Given the description of an element on the screen output the (x, y) to click on. 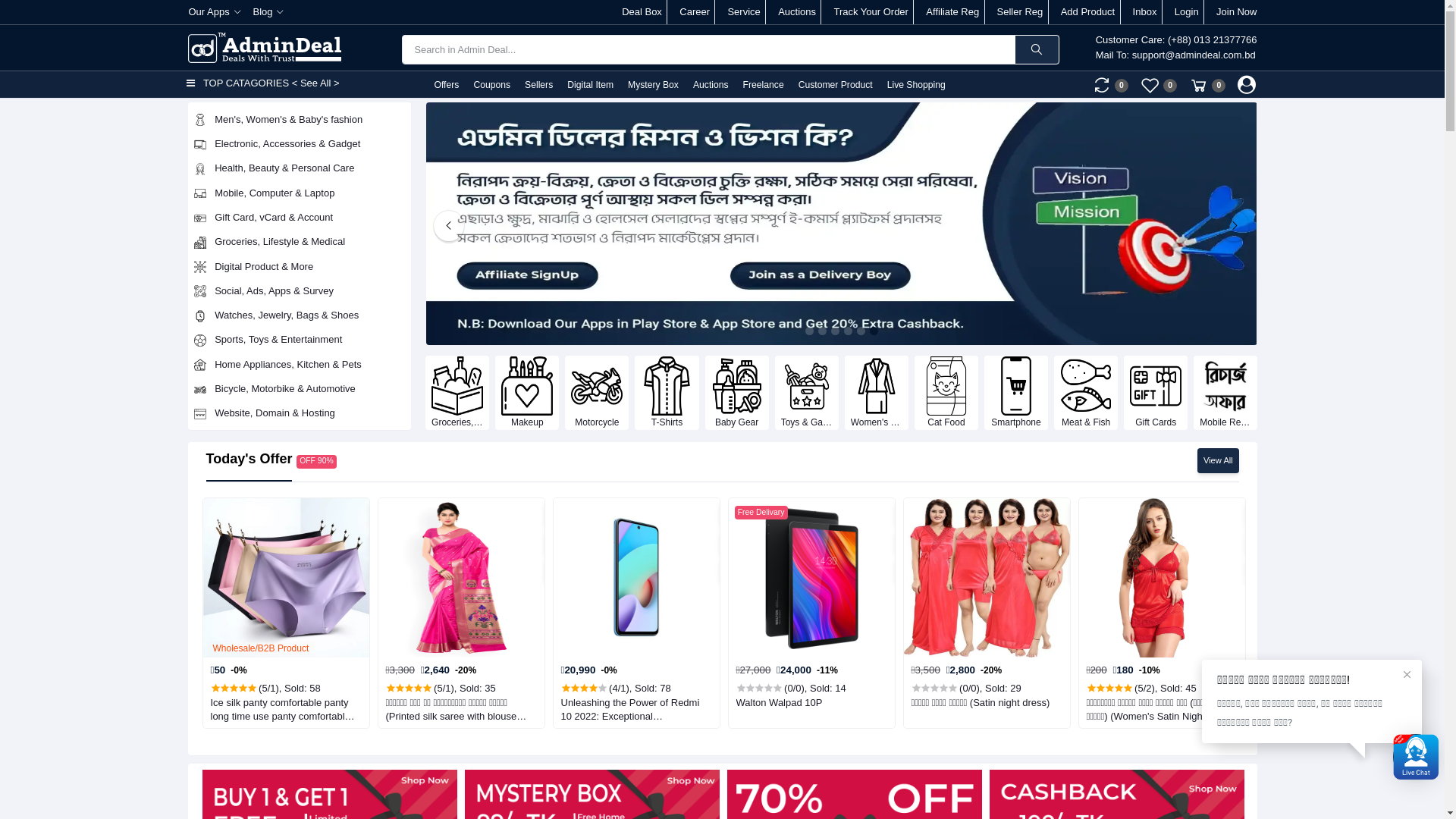
Walton Walpad 10P Element type: text (808, 702)
Smartphone Element type: text (1016, 392)
Digital Product & More Element type: text (299, 266)
Gift Card, vCard & Account Element type: text (299, 217)
Watches, Jewelry, Bags & Shoes Element type: text (299, 315)
0 Element type: text (1110, 84)
Customer Product Element type: text (834, 84)
Affiliate Reg Element type: text (952, 12)
4 Element type: text (848, 330)
Groceries, Lifestyle & Medical Element type: text (457, 392)
Deal Box Element type: text (641, 12)
Blog Element type: text (268, 12)
Freelance Element type: text (762, 84)
6 Element type: text (873, 330)
Gift Cards Element type: text (1155, 392)
Seller Reg Element type: text (1020, 12)
Men's, Women's & Baby's fashion Element type: text (299, 118)
Career Element type: text (694, 12)
Auctions Element type: text (796, 12)
3 Element type: text (835, 330)
Login Element type: text (1186, 12)
Mobile, Computer & Laptop Element type: text (299, 192)
Toys & Games Element type: text (806, 392)
Groceries, Lifestyle & Medical Element type: text (299, 241)
Track Your Order Element type: text (870, 12)
Cat Food Element type: text (946, 392)
Our Apps Element type: text (214, 12)
Offers Element type: text (445, 84)
Service Element type: text (743, 12)
Sports, Toys & Entertainment Element type: text (299, 339)
2 Element type: text (822, 330)
Website, Domain & Hosting Element type: text (299, 413)
Inbox Element type: text (1144, 12)
5 Element type: text (860, 330)
Mystery Box Element type: text (652, 84)
Join Now Element type: text (1236, 12)
Women's Clothing Element type: text (876, 392)
0 Element type: text (1207, 84)
Mobile Reacharge Element type: text (1225, 392)
Home Appliances, Kitchen & Pets Element type: text (299, 363)
Social, Ads, Apps & Survey Element type: text (299, 290)
< See All > Element type: text (315, 82)
Makeup Element type: text (526, 392)
View All Element type: text (1217, 460)
Digital Item Element type: text (589, 84)
T-Shirts Element type: text (666, 392)
0 Element type: text (1158, 84)
Health, Beauty & Personal Care Element type: text (299, 168)
Baby Gear Element type: text (736, 392)
Electronic, Accessories & Gadget Element type: text (299, 143)
Auctions Element type: text (710, 84)
Add Product Element type: text (1087, 12)
1 Element type: text (809, 330)
Meat & Fish Element type: text (1085, 392)
Motorcycle Element type: text (596, 392)
Coupons Element type: text (490, 84)
Live Shopping Element type: text (915, 84)
Sellers Element type: text (538, 84)
Bicycle, Motorbike & Automotive Element type: text (299, 388)
